Given the description of an element on the screen output the (x, y) to click on. 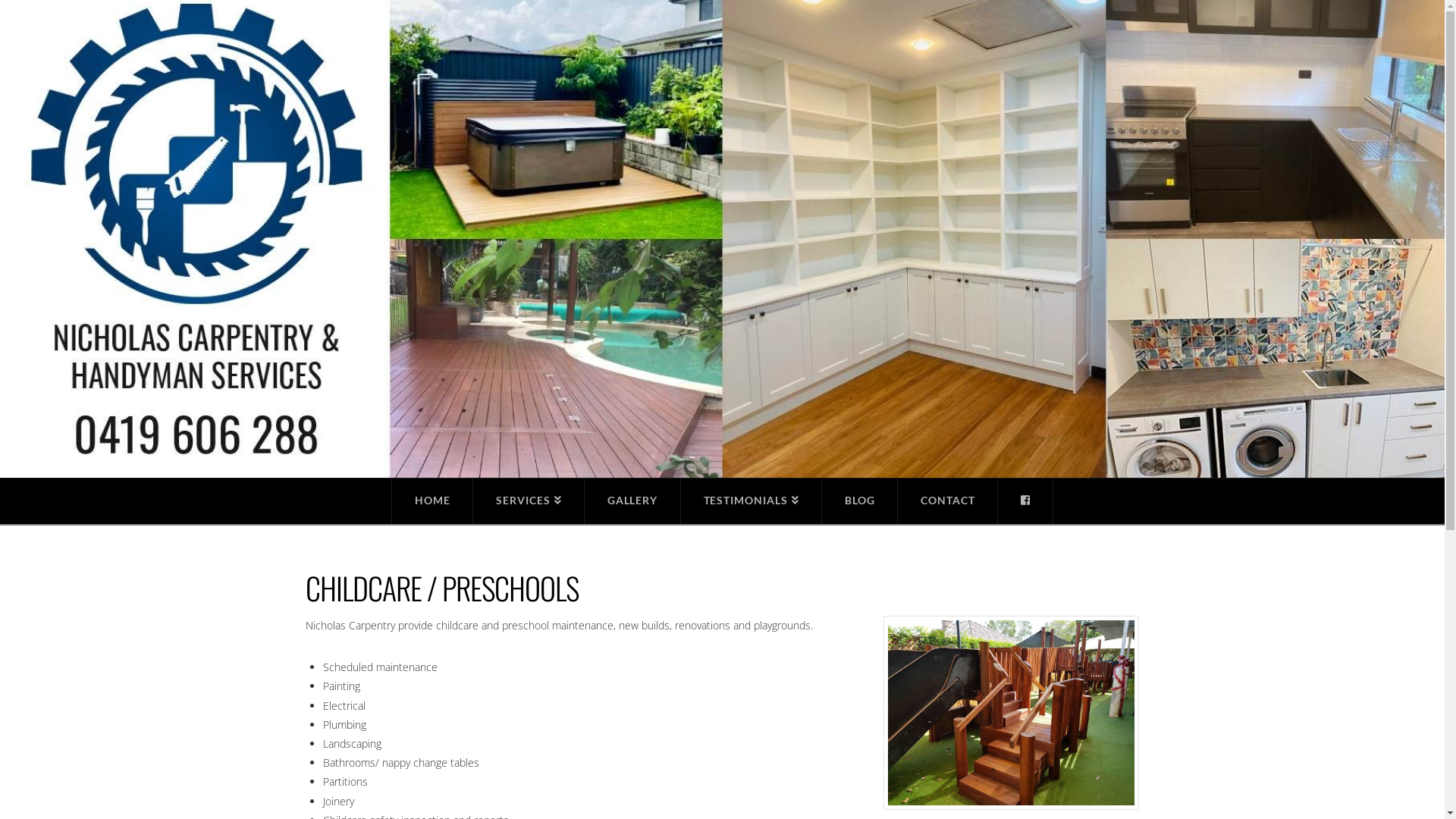
TESTIMONIALS Element type: text (751, 501)
SERVICES Element type: text (528, 501)
BLOG Element type: text (859, 501)
HOME Element type: text (432, 501)
CONTACT Element type: text (947, 501)
GALLERY Element type: text (632, 501)
